Given the description of an element on the screen output the (x, y) to click on. 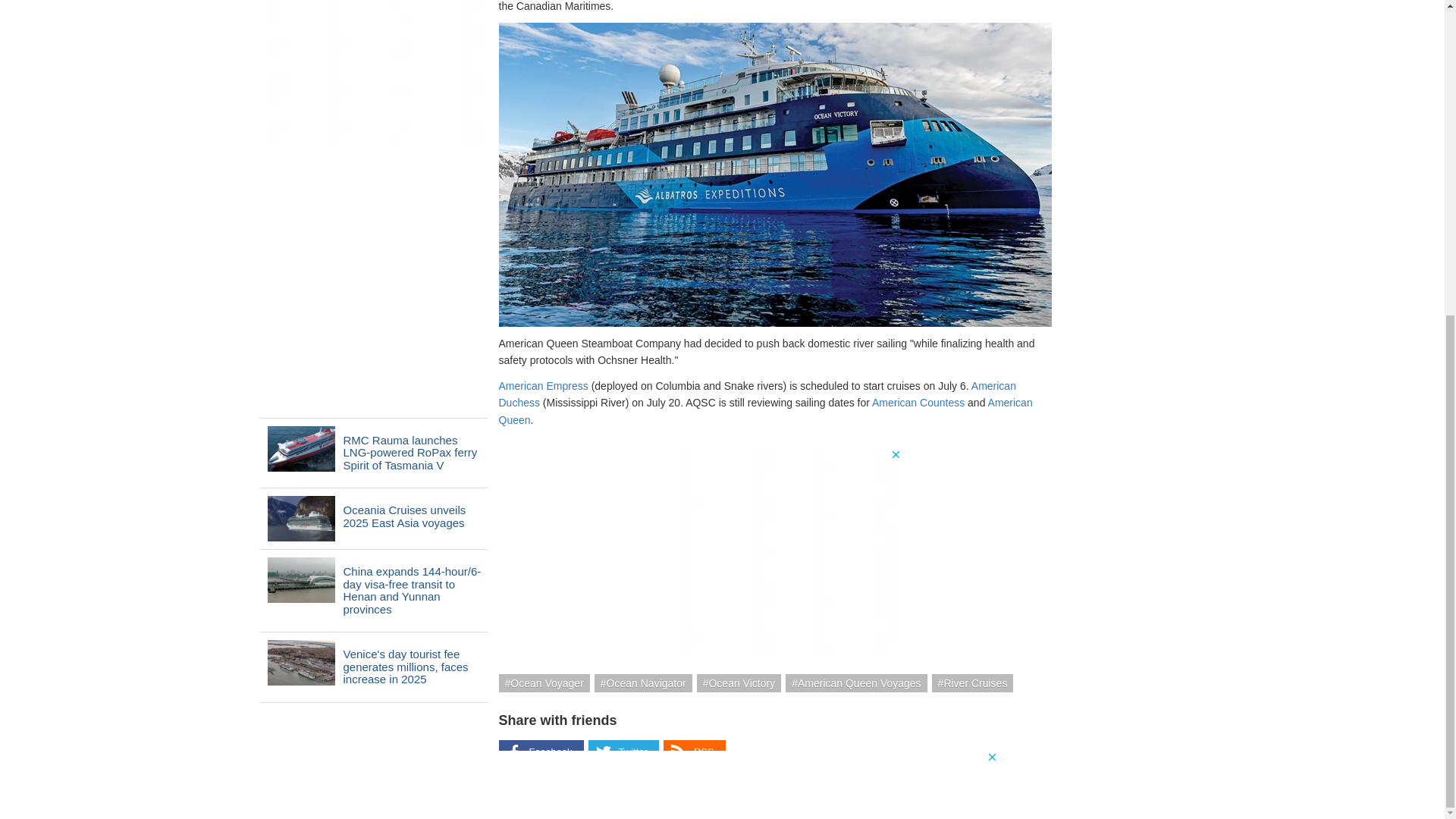
American Countess (917, 402)
American Duchess (757, 394)
3rd party ad content (721, 278)
RSS (694, 752)
Ocean Voyager (544, 683)
Facebook (541, 752)
3rd party ad content (774, 553)
American Empress (543, 386)
Oceania Cruises unveils 2025 East Asia voyages (300, 518)
3rd party ad content (372, 72)
Twitter (623, 752)
River Cruises (972, 683)
American Queen Voyages (856, 683)
